Given the description of an element on the screen output the (x, y) to click on. 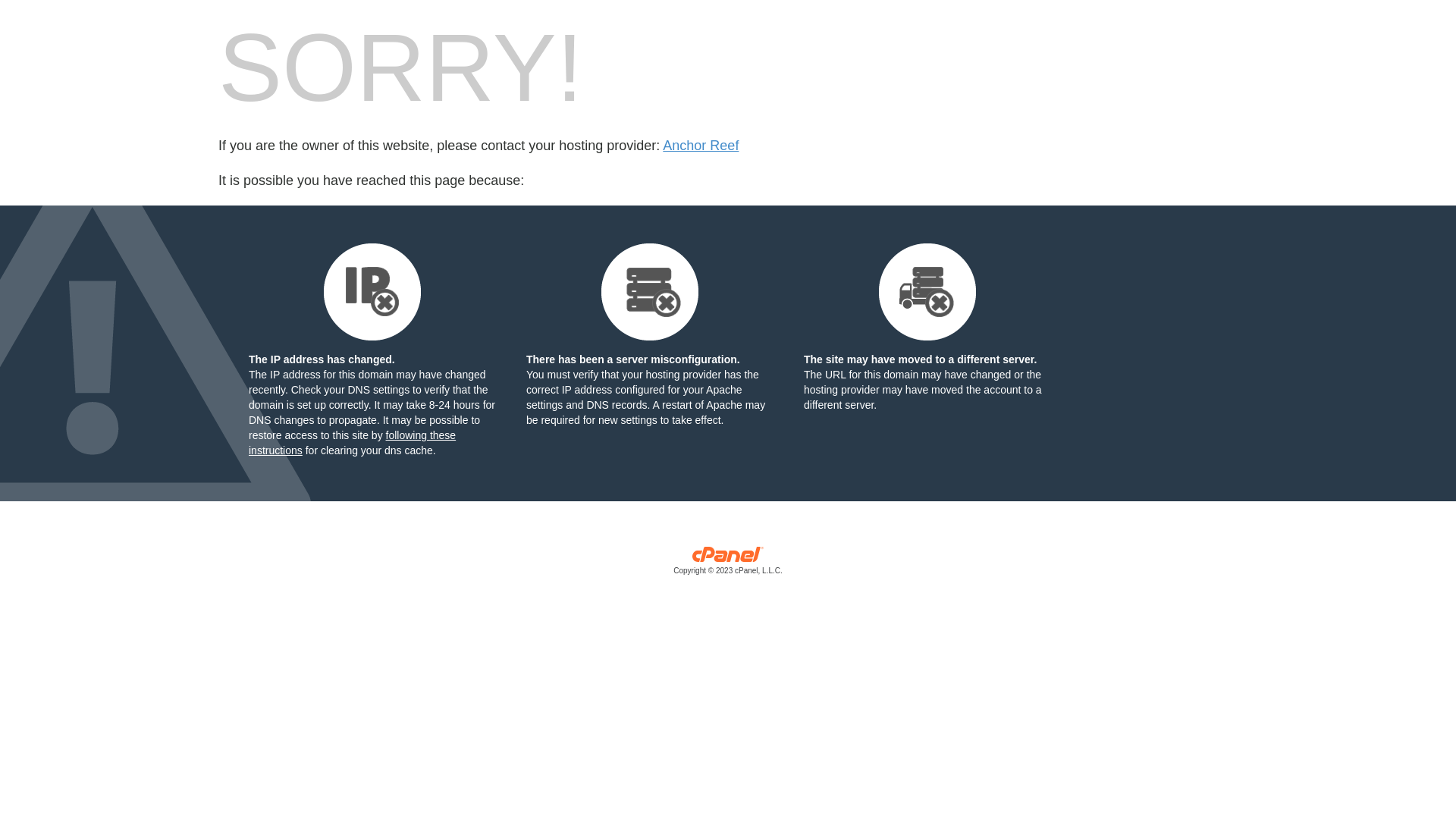
Anchor Reef Element type: text (700, 145)
following these instructions Element type: text (351, 442)
